Given the description of an element on the screen output the (x, y) to click on. 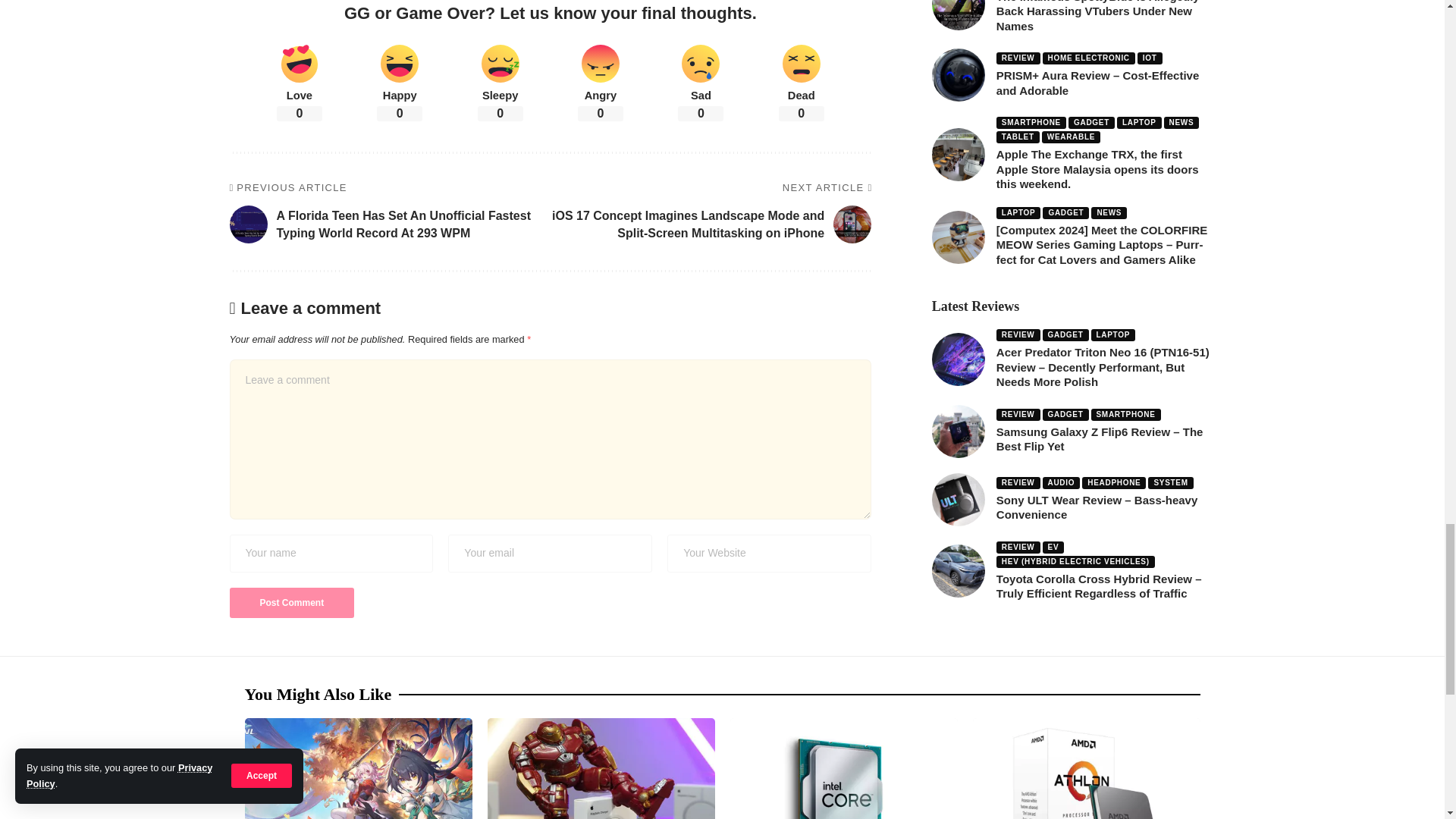
Post Comment (290, 603)
